Given the description of an element on the screen output the (x, y) to click on. 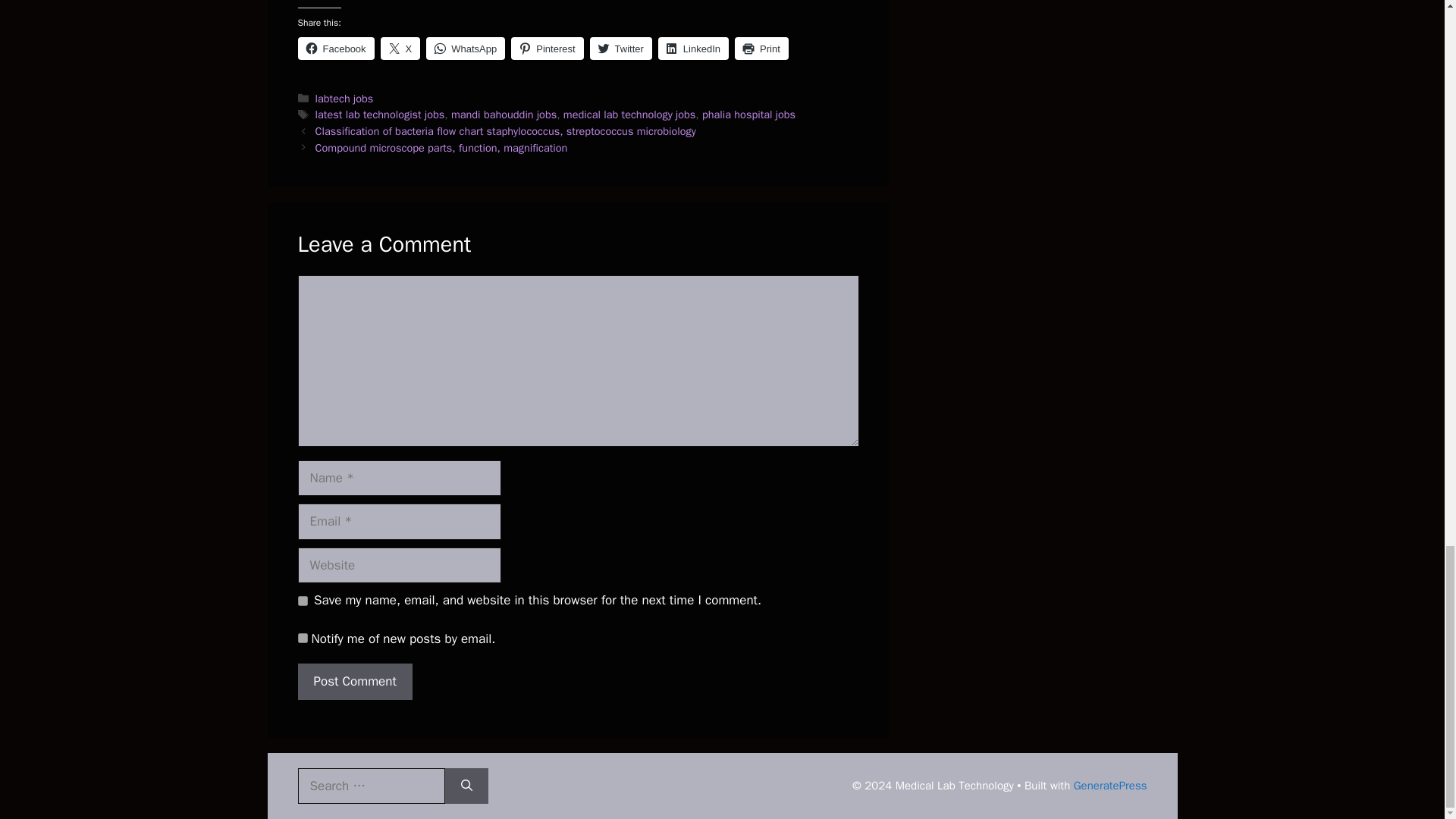
Facebook (335, 47)
mandi bahouddin jobs (503, 114)
phalia hospital jobs (747, 114)
Click to share on X (400, 47)
Pinterest (547, 47)
LinkedIn (693, 47)
subscribe (302, 637)
Post Comment (354, 681)
medical lab technology jobs (629, 114)
GeneratePress (1110, 785)
Click to share on Facebook (335, 47)
yes (302, 601)
WhatsApp (465, 47)
latest lab technologist jobs (380, 114)
